Given the description of an element on the screen output the (x, y) to click on. 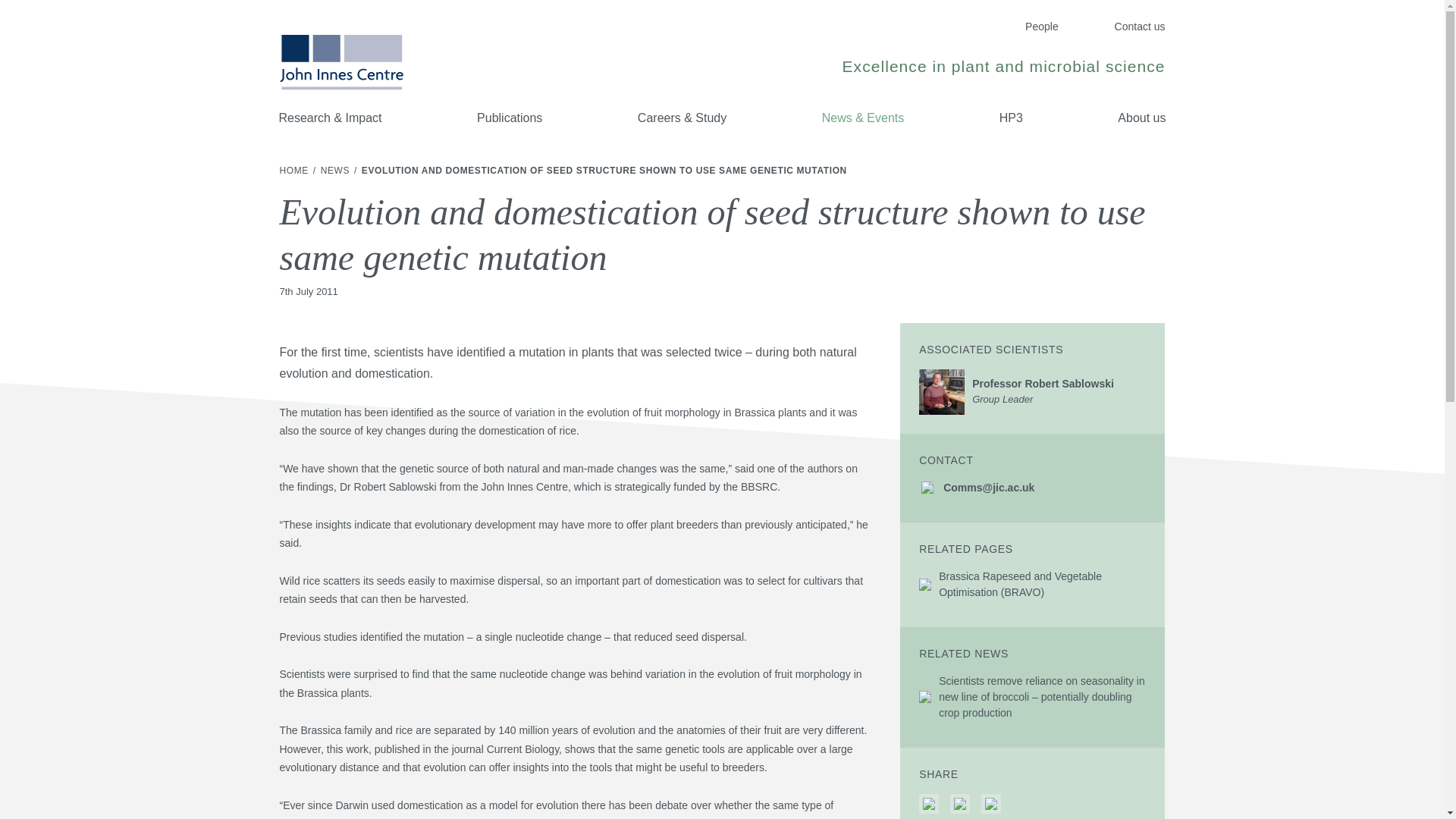
HP3 (1010, 117)
Publications (509, 117)
People (1041, 26)
NEWS (336, 170)
HOME (1031, 391)
About us (295, 170)
Contact us (1141, 117)
